Given the description of an element on the screen output the (x, y) to click on. 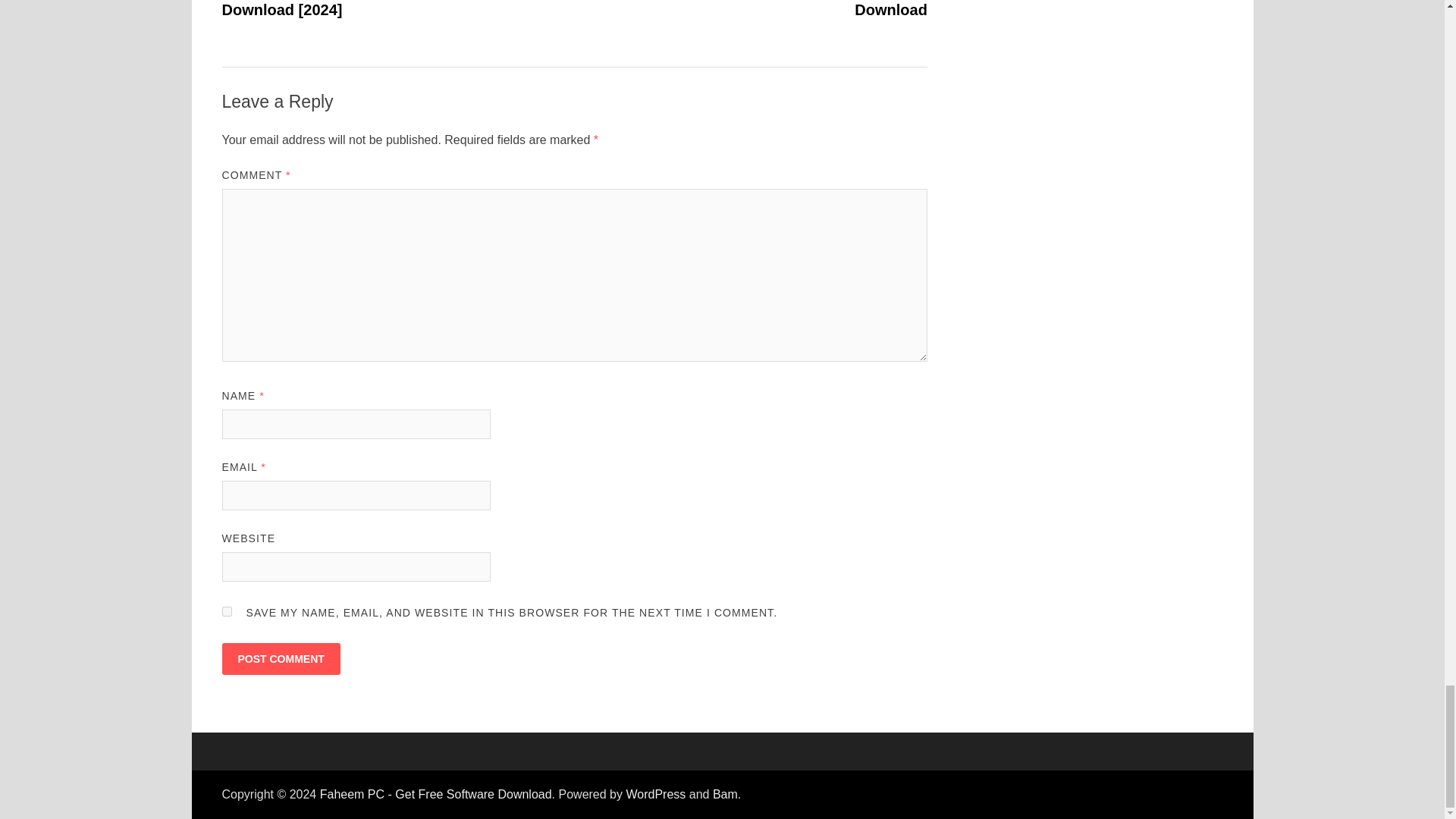
yes (226, 611)
Post Comment (280, 658)
